Given the description of an element on the screen output the (x, y) to click on. 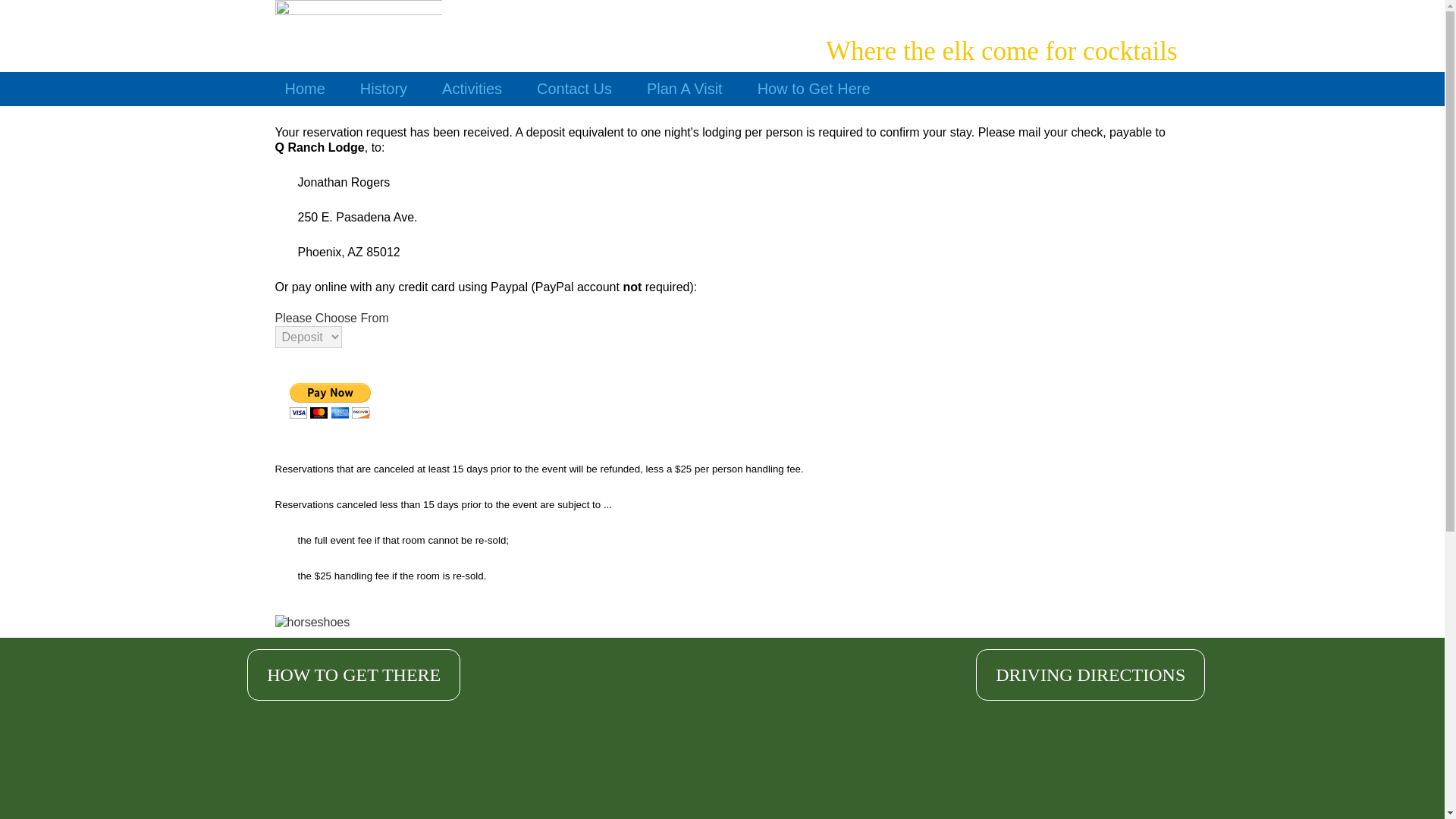
Contact Us (574, 89)
DRIVING DIRECTIONS (1090, 675)
How to Get Here (813, 89)
Home (304, 89)
HOW TO GET THERE (353, 675)
